Given the description of an element on the screen output the (x, y) to click on. 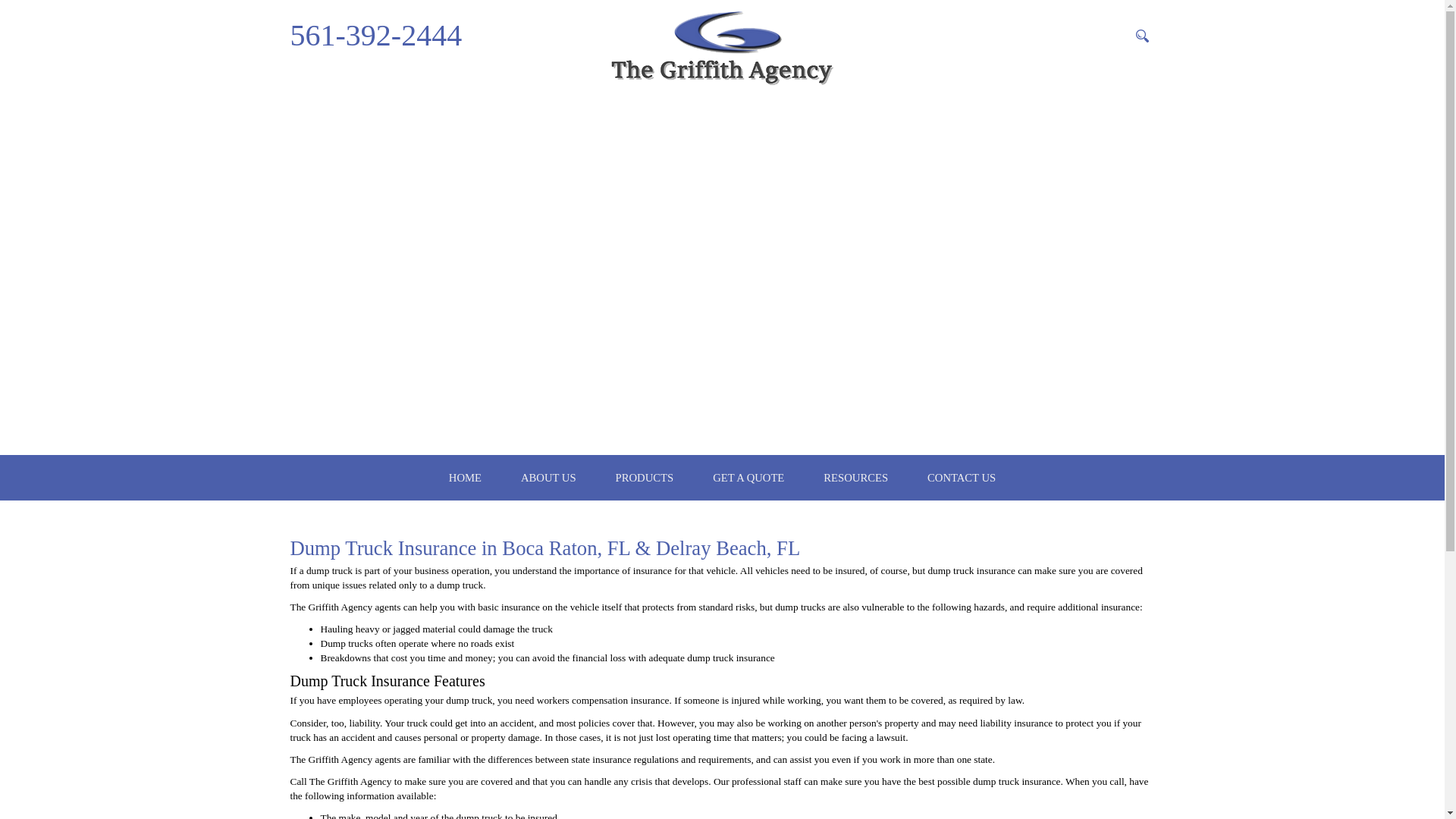
PRODUCTS (644, 477)
HOME (464, 477)
561-392-2444 (375, 35)
ABOUT US (548, 477)
